Given the description of an element on the screen output the (x, y) to click on. 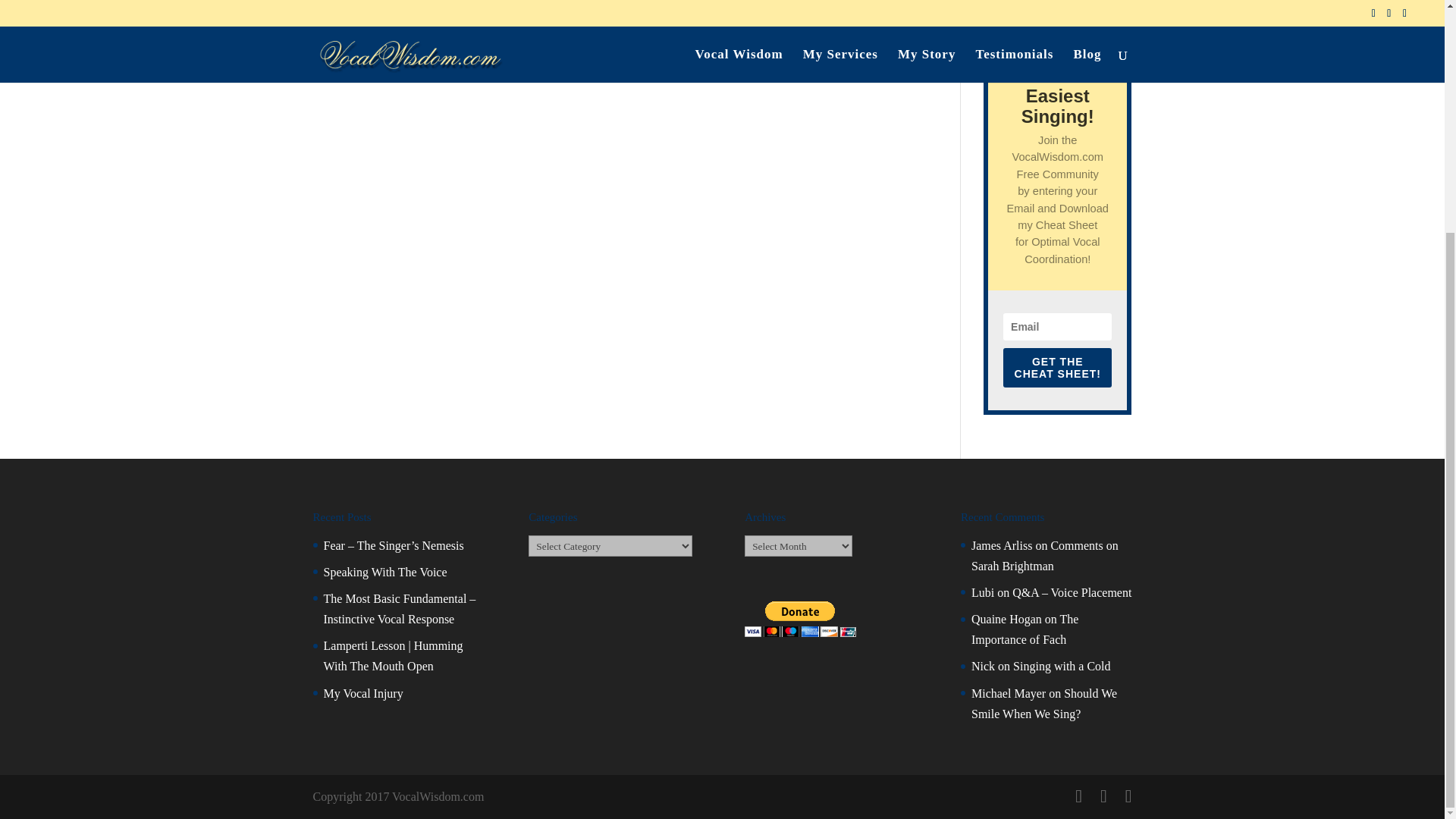
Singing with a Cold (1061, 666)
Michael Mayer (1008, 693)
My Vocal Injury (363, 693)
Speaking With The Voice (384, 571)
GET THE CHEAT SHEET! (1057, 367)
Comments on Sarah Brightman (1044, 555)
The Importance of Fach (1024, 629)
Should We Smile When We Sing? (1043, 703)
